Given the description of an element on the screen output the (x, y) to click on. 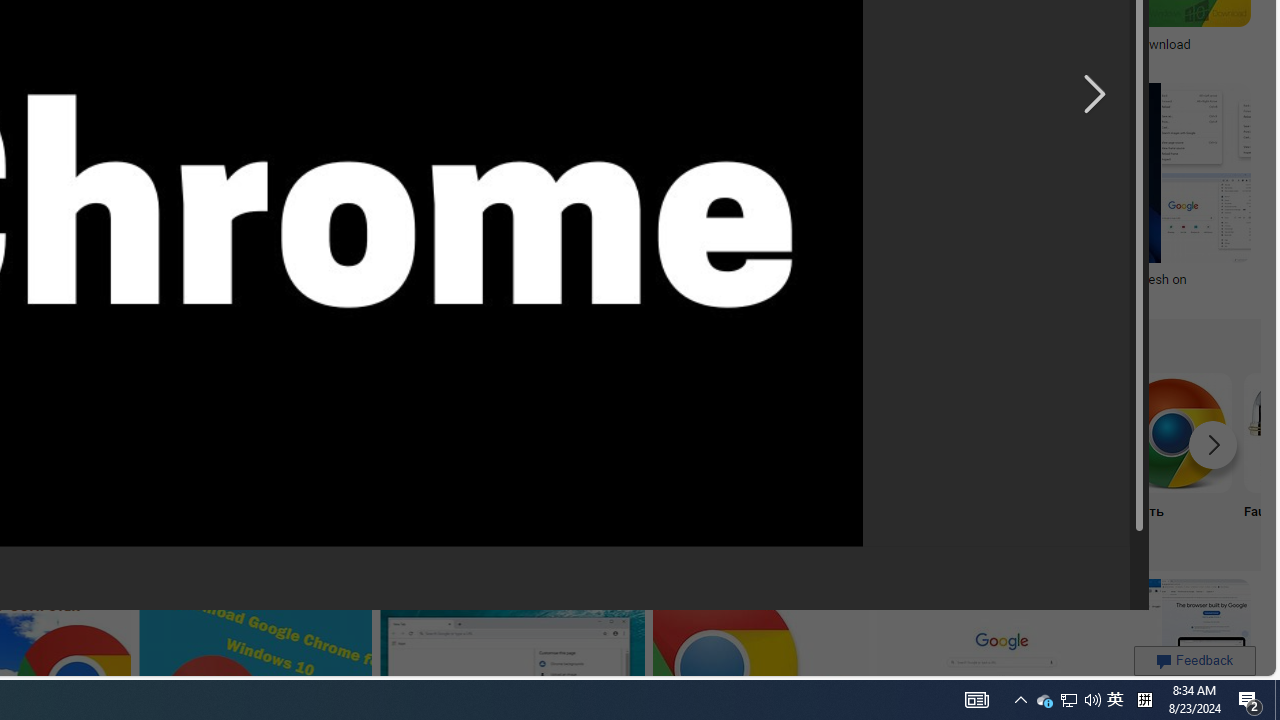
Chrome Computer Chrome Computer (1039, 458)
Chrome Computer (1039, 432)
Chrome Download for PC Download for PC (116, 458)
Install chrome for windows 10 - radicallio (792, 44)
3:29 (607, 101)
Chrome Free Download Free Download (775, 458)
Scroll more suggestions right (1213, 444)
How to download Chrome on Windows 10 (724, 279)
Use Google Chrome (907, 432)
Chrome Free Download (775, 432)
Get Google Chrome (380, 432)
